Given the description of an element on the screen output the (x, y) to click on. 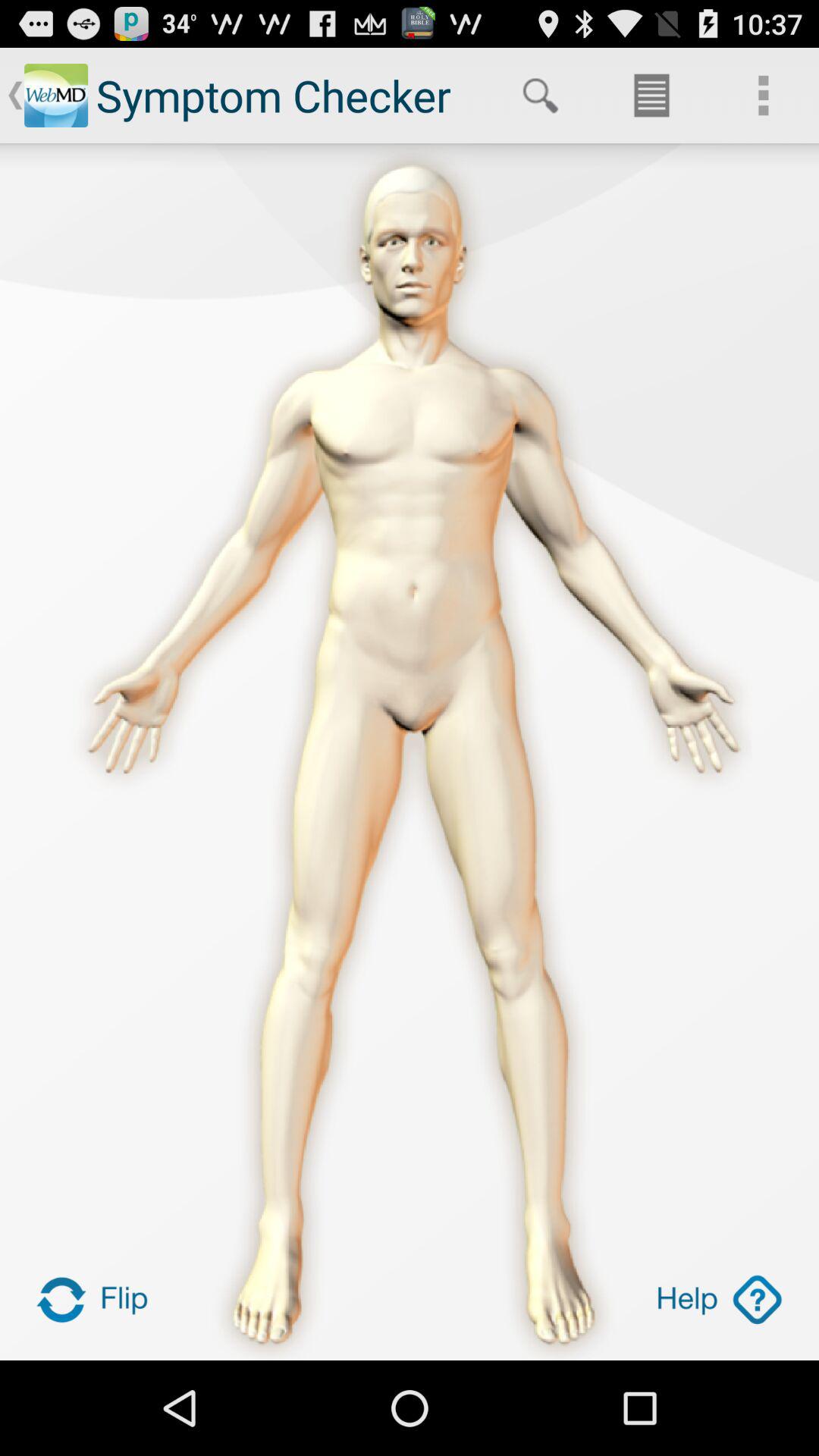
rotates image of body to reverse side (99, 1299)
